Given the description of an element on the screen output the (x, y) to click on. 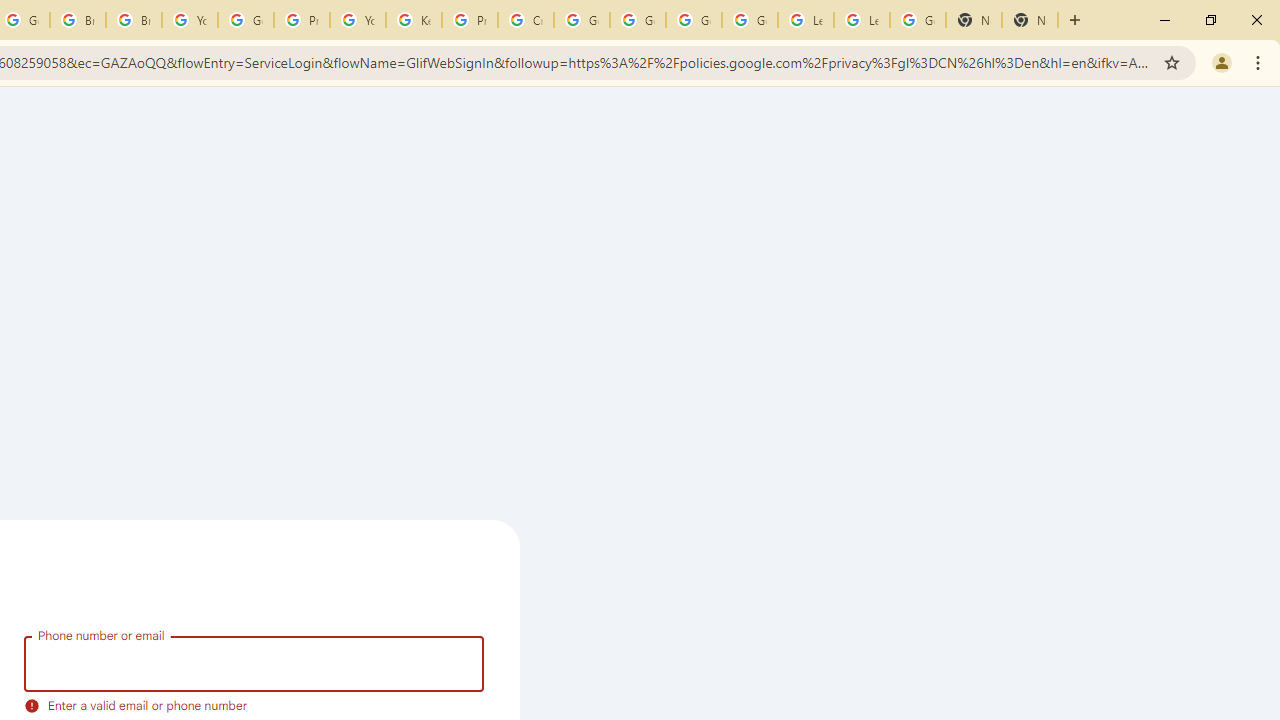
Brand Resource Center (77, 20)
YouTube (358, 20)
Create your Google Account (525, 20)
Google Account Help (245, 20)
New Tab (1030, 20)
Google Account Help (637, 20)
Google Account (917, 20)
New Tab (973, 20)
